Given the description of an element on the screen output the (x, y) to click on. 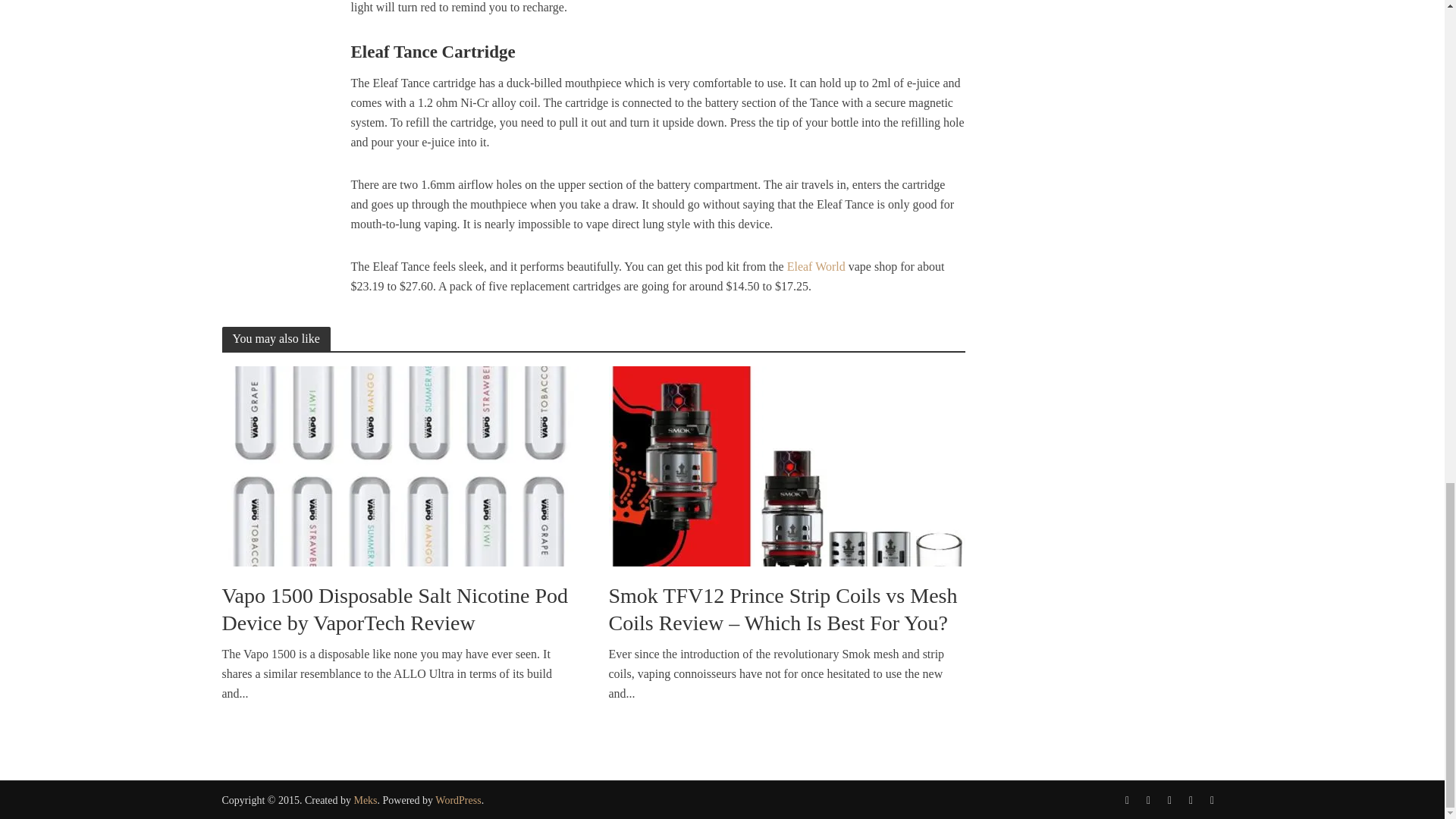
Eleaf World (816, 268)
